Given the description of an element on the screen output the (x, y) to click on. 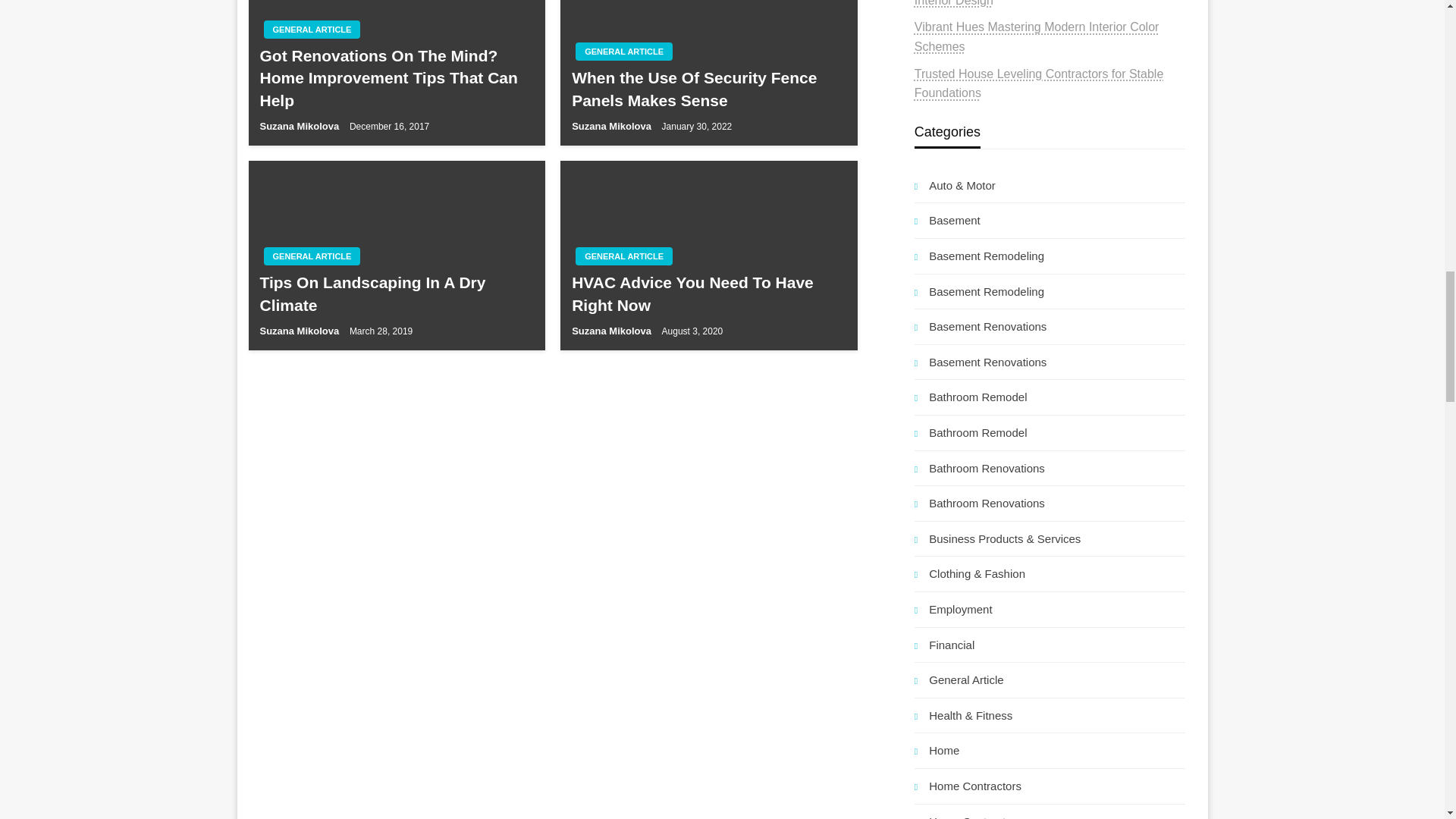
When the Use Of Security Fence Panels Makes Sense (708, 88)
GENERAL ARTICLE (623, 51)
GENERAL ARTICLE (312, 29)
GENERAL ARTICLE (623, 256)
Suzana Mikolova (612, 330)
Suzana Mikolova (299, 125)
Tips On Landscaping In A Dry Climate (396, 293)
GENERAL ARTICLE (312, 256)
HVAC Advice You Need To Have Right Now (708, 293)
Suzana Mikolova (299, 330)
Suzana Mikolova (612, 125)
